Given the description of an element on the screen output the (x, y) to click on. 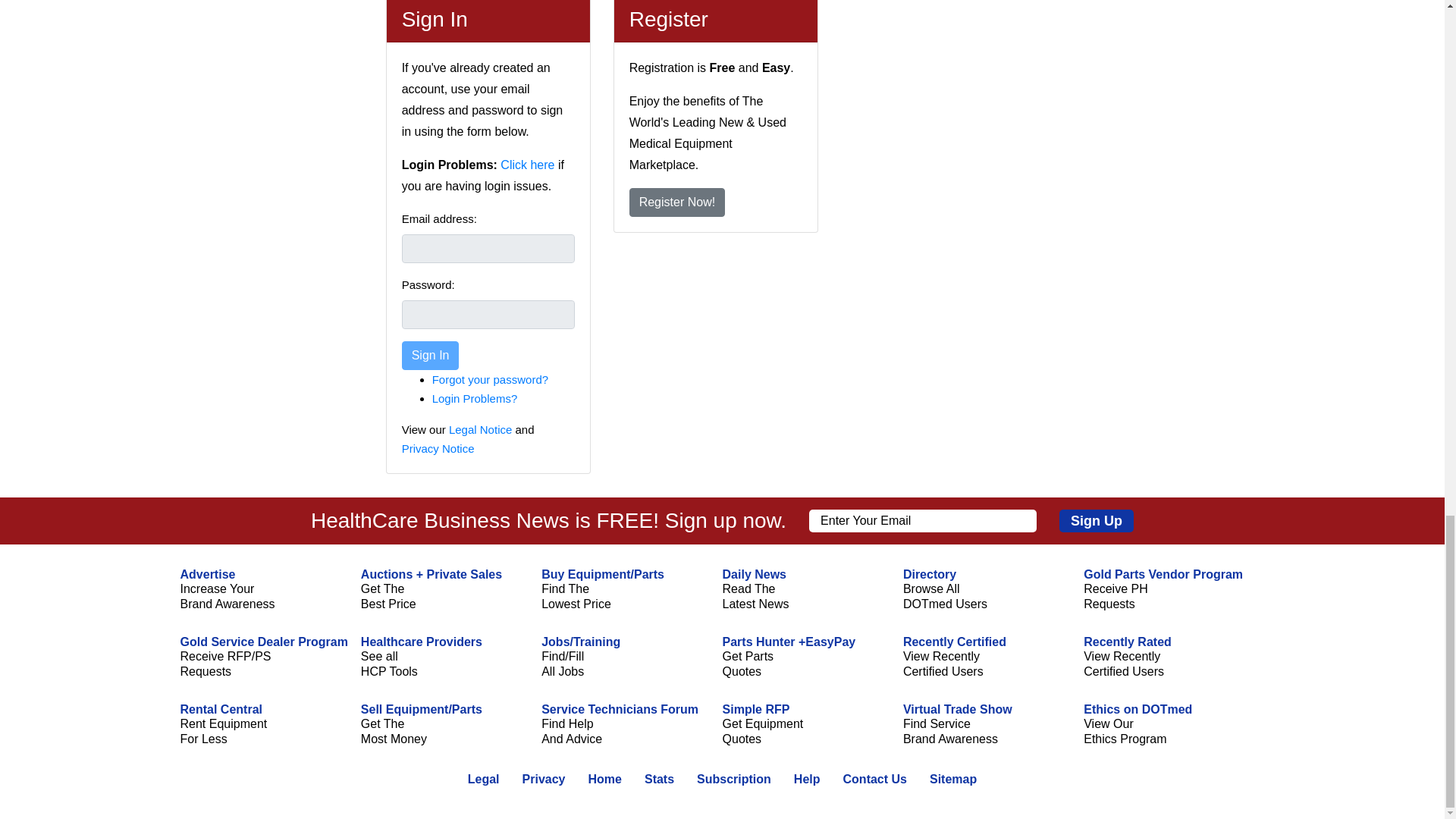
Sign In (430, 355)
Login Problems? (475, 398)
Forget your password? (490, 379)
Register Now! (676, 202)
